Given the description of an element on the screen output the (x, y) to click on. 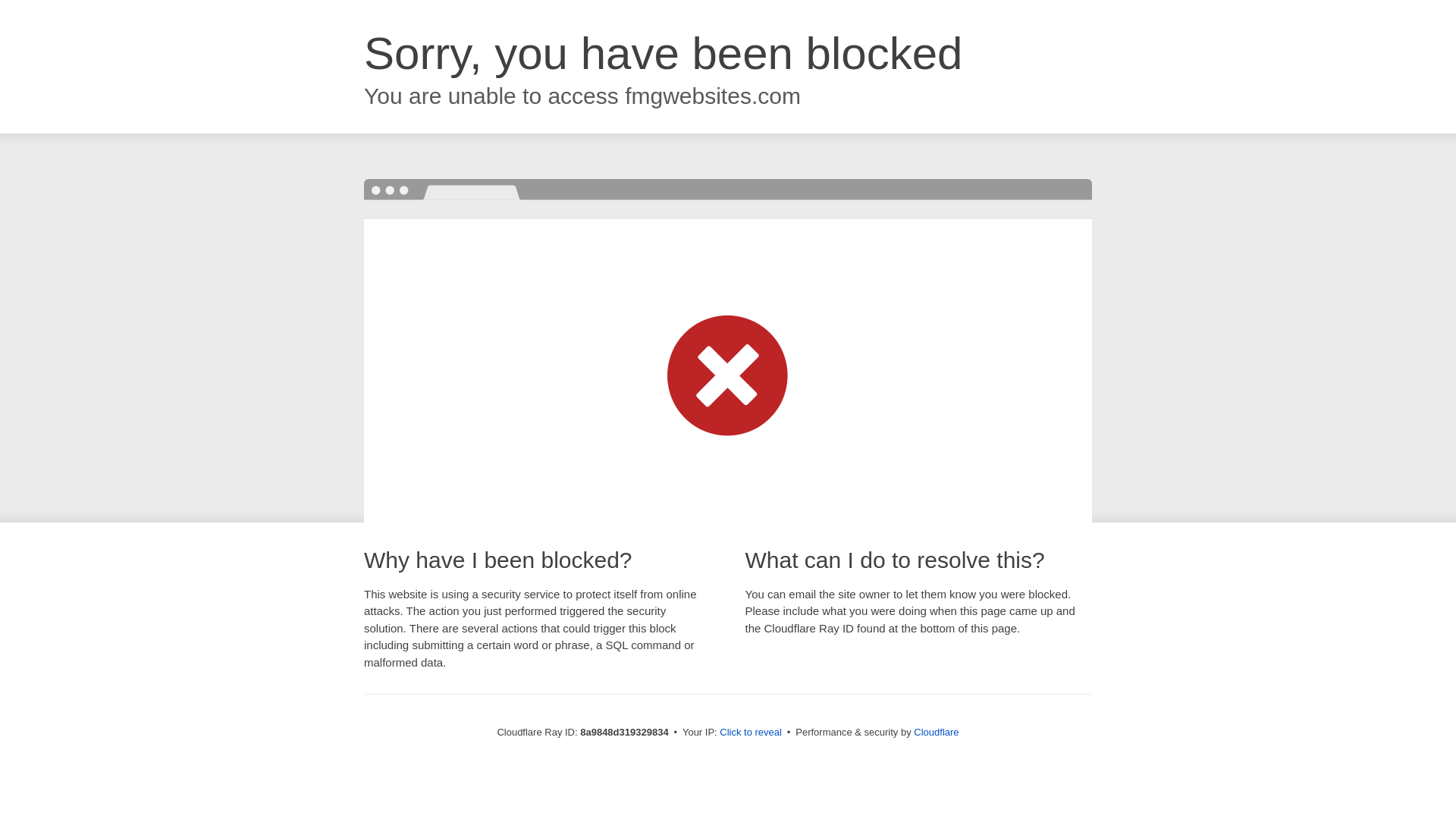
Cloudflare (936, 731)
Click to reveal (750, 732)
